Given the description of an element on the screen output the (x, y) to click on. 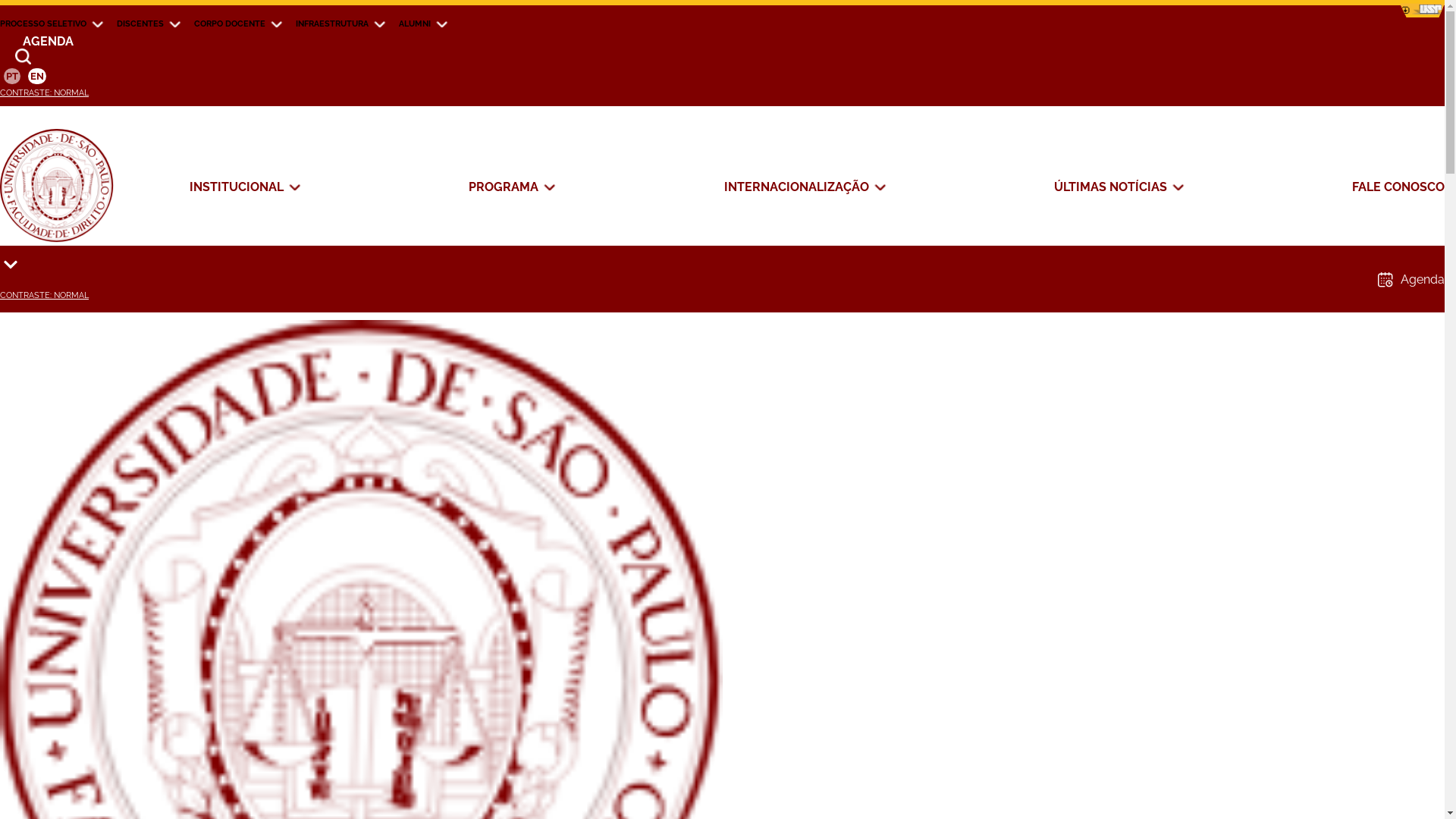
PROGRAMA Element type: text (503, 186)
INFRAESTRUTURA Element type: text (331, 23)
Home Element type: text (36, 175)
interposfd@usp.br Element type: text (236, 788)
PROCESSO SELETIVO Element type: text (43, 23)
ALUMNI Element type: text (414, 23)
CORPO DOCENTE Element type: text (229, 23)
DISCENTES Element type: text (139, 23)
INSTITUCIONAL Element type: text (236, 186)
CONTRASTE: NORMAL Element type: text (44, 294)
AGENDA Element type: text (721, 41)
Agenda Element type: text (1410, 279)
PT Element type: text (11, 76)
FALE CONOSCO Element type: text (1398, 186)
EN Element type: text (37, 76)
CONTRASTE: NORMAL Element type: text (44, 92)
